Given the description of an element on the screen output the (x, y) to click on. 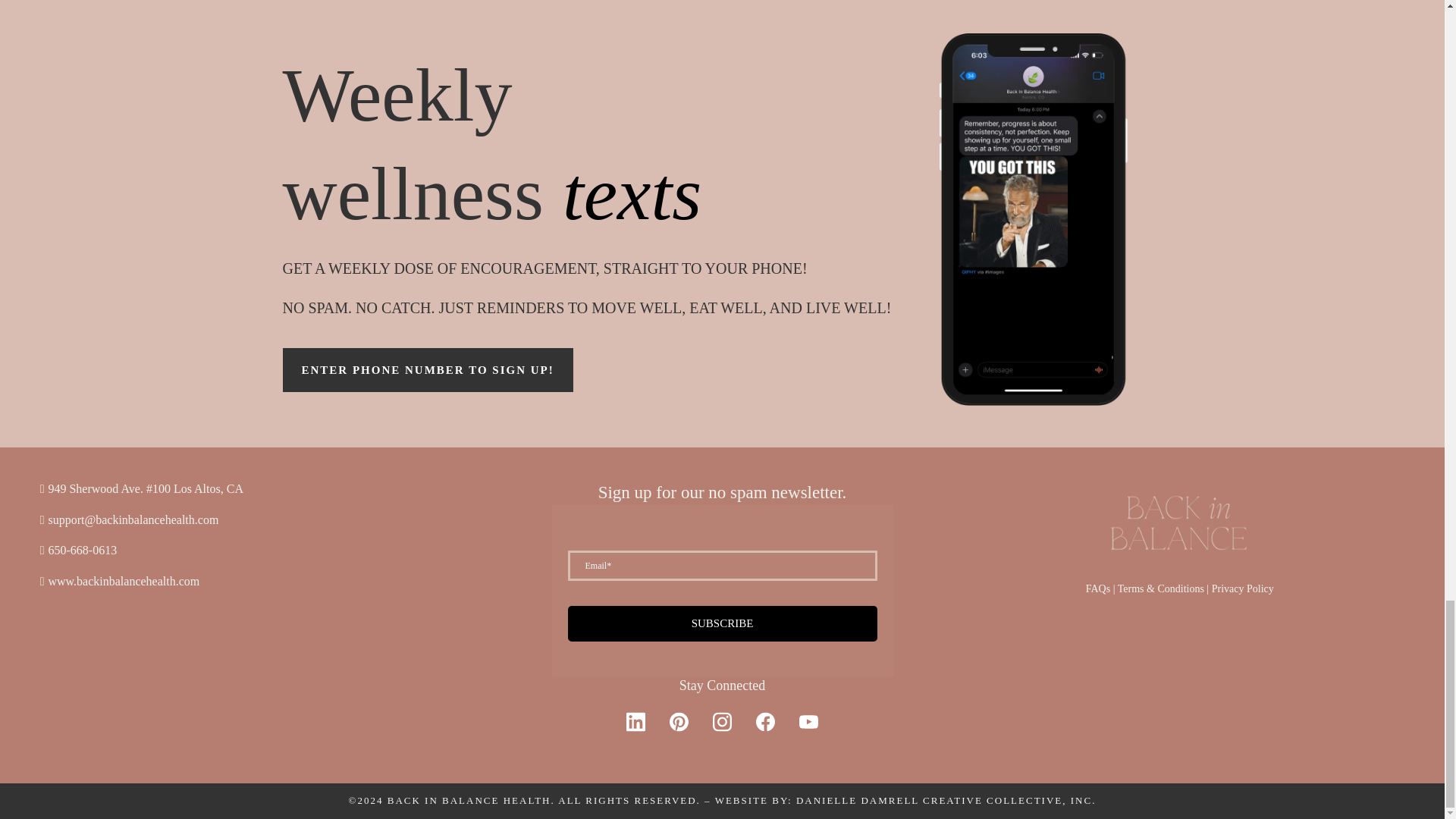
www.backinbalancehealth.com (123, 581)
Privacy Policy (1242, 588)
SUBSCRIBE (721, 623)
ENTER PHONE NUMBER TO SIGN UP! (427, 370)
FAQs (1097, 588)
